Given the description of an element on the screen output the (x, y) to click on. 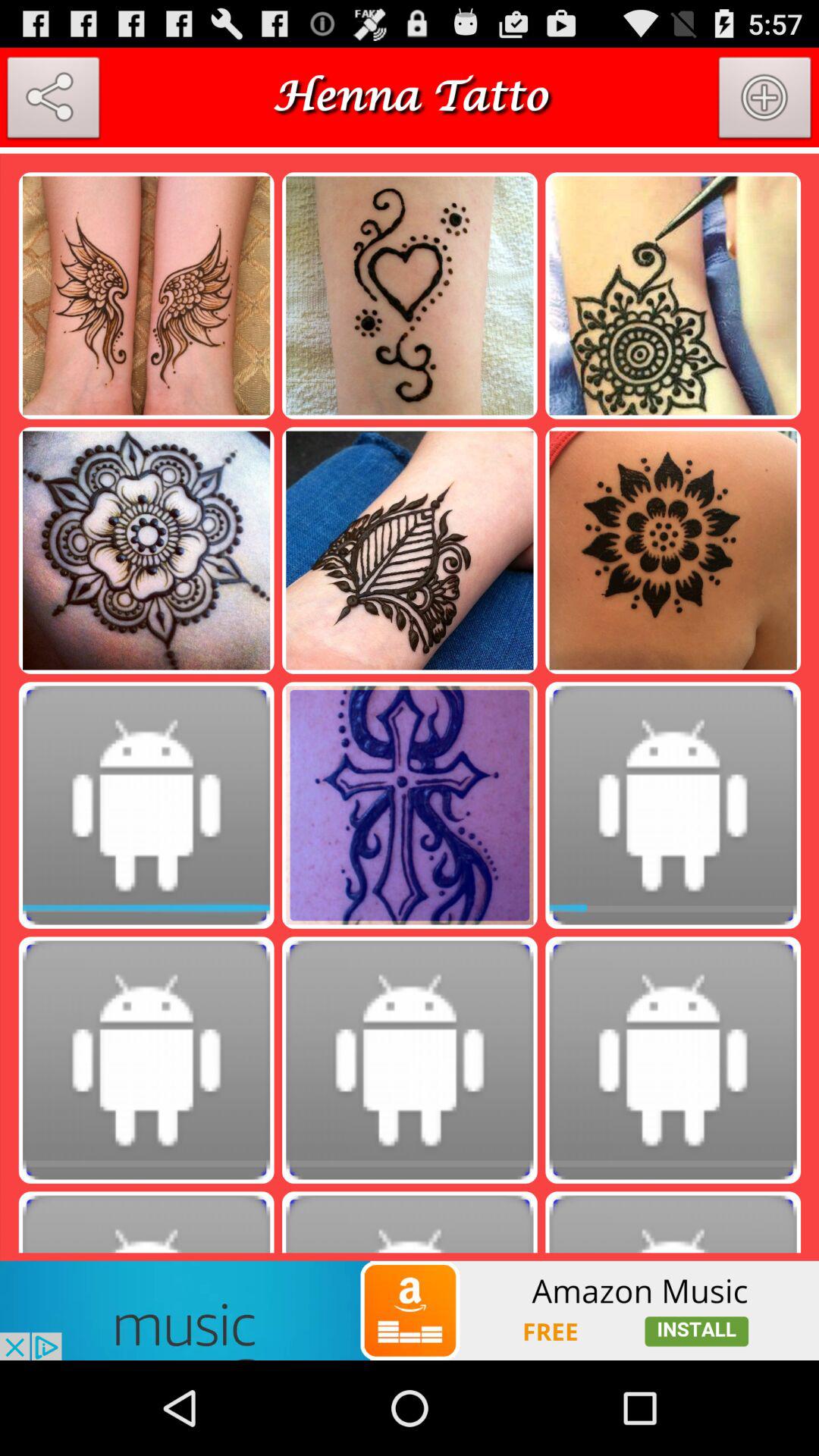
share the designs (53, 100)
